Given the description of an element on the screen output the (x, y) to click on. 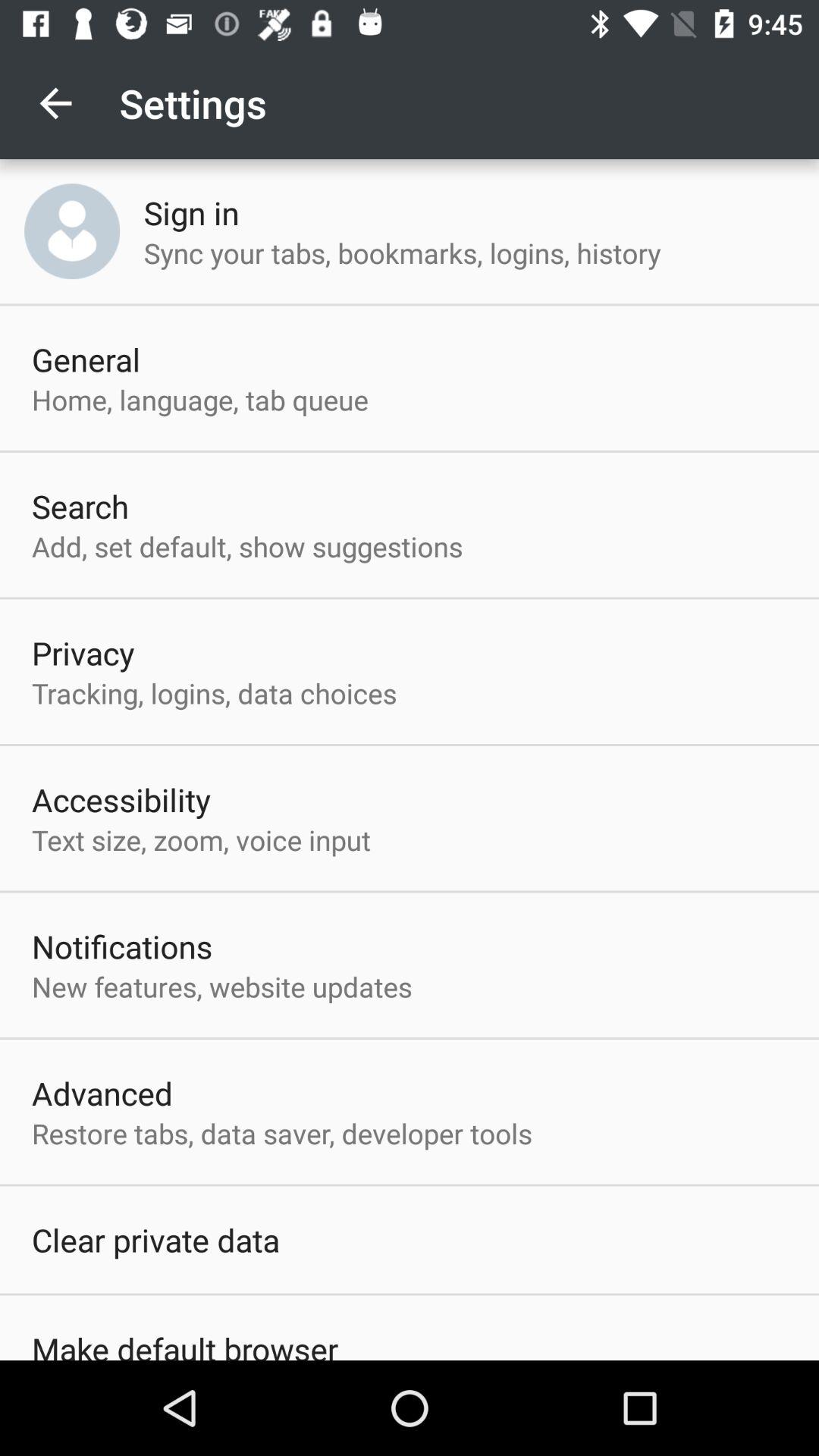
launch the app next to the settings app (55, 103)
